Given the description of an element on the screen output the (x, y) to click on. 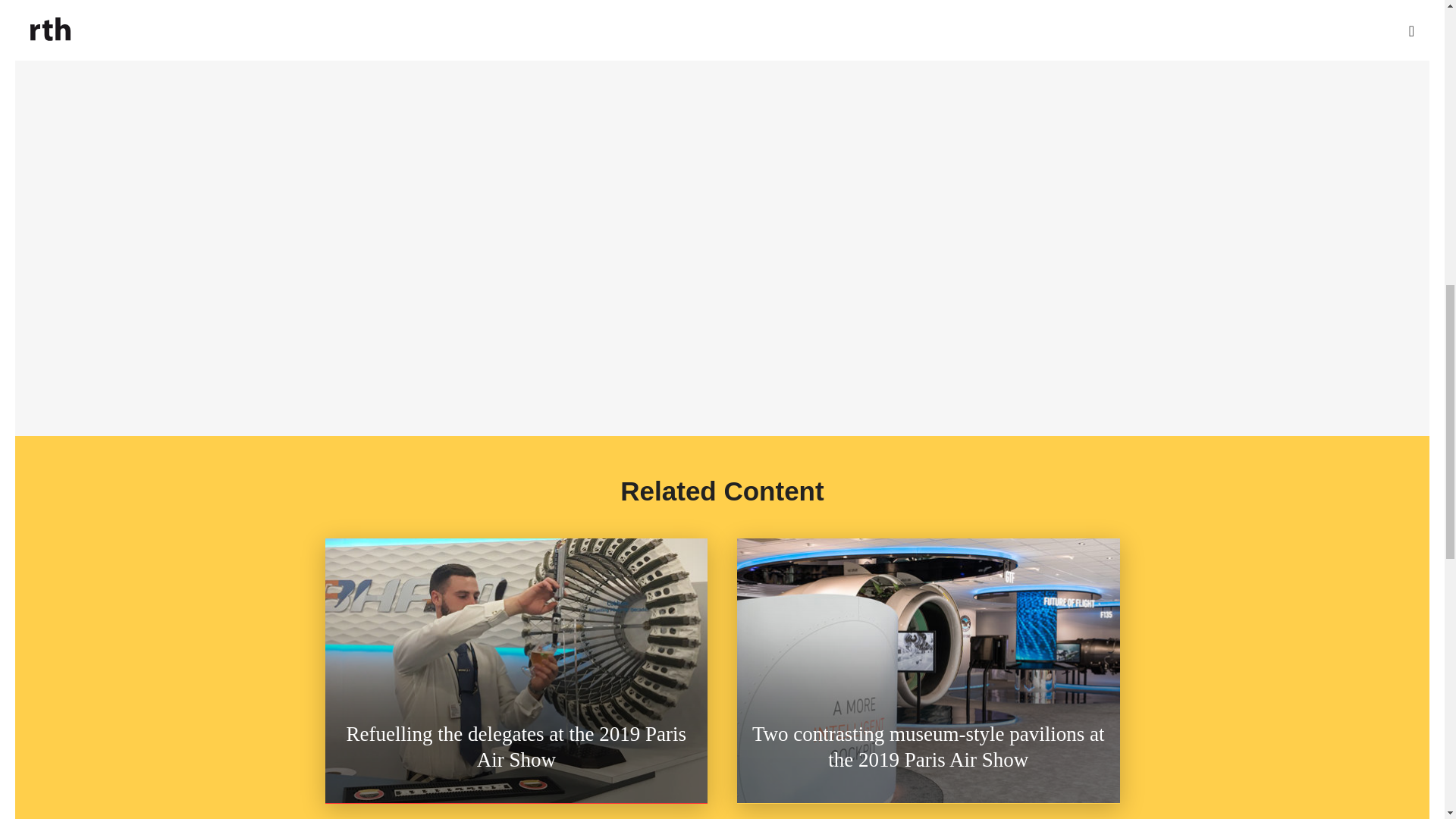
Refuelling the delegates at the 2019 Paris Air Show (515, 670)
